Given the description of an element on the screen output the (x, y) to click on. 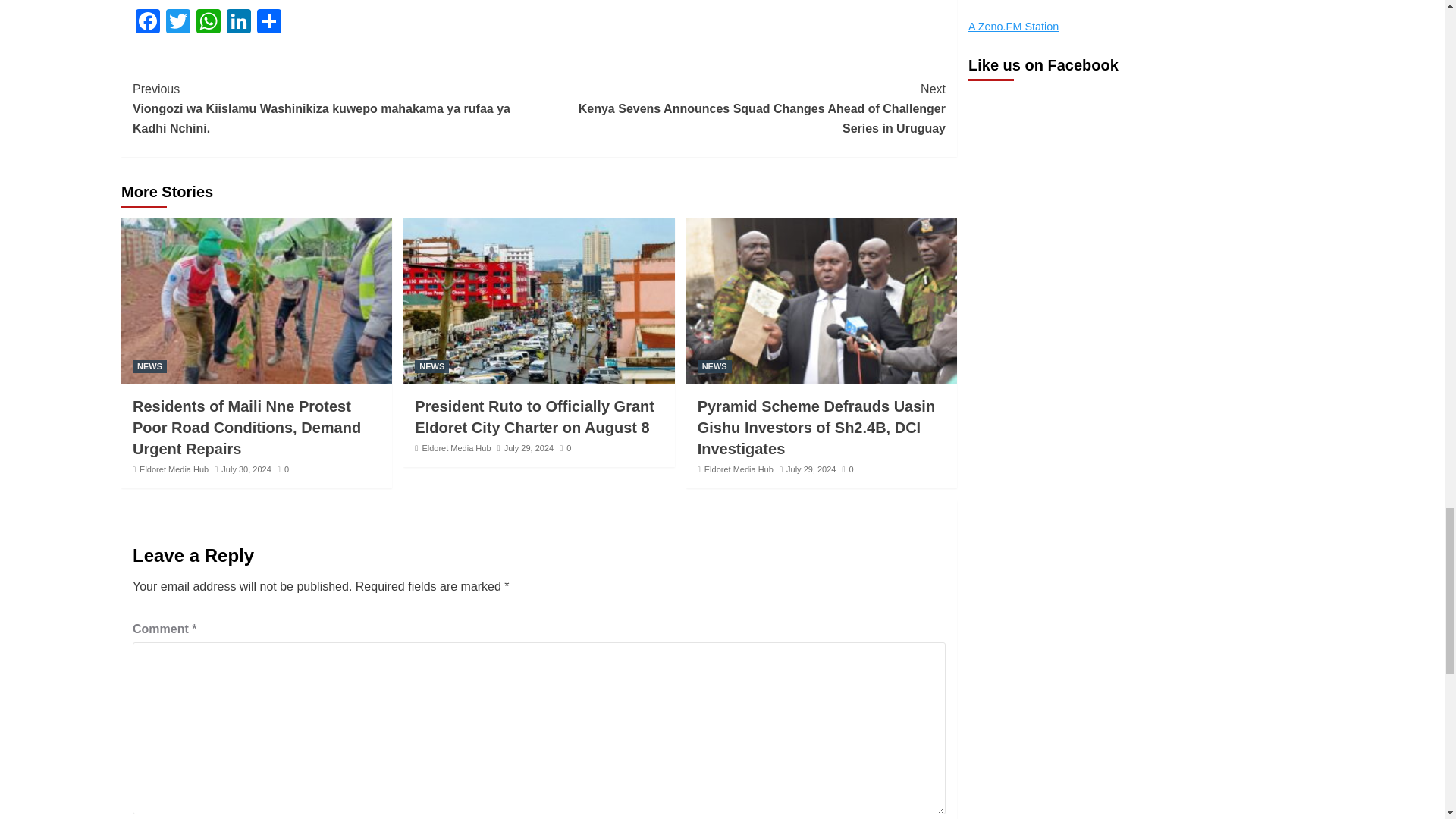
Facebook (147, 22)
Twitter (178, 22)
WhatsApp (208, 22)
Facebook (147, 22)
LinkedIn (238, 22)
